Given the description of an element on the screen output the (x, y) to click on. 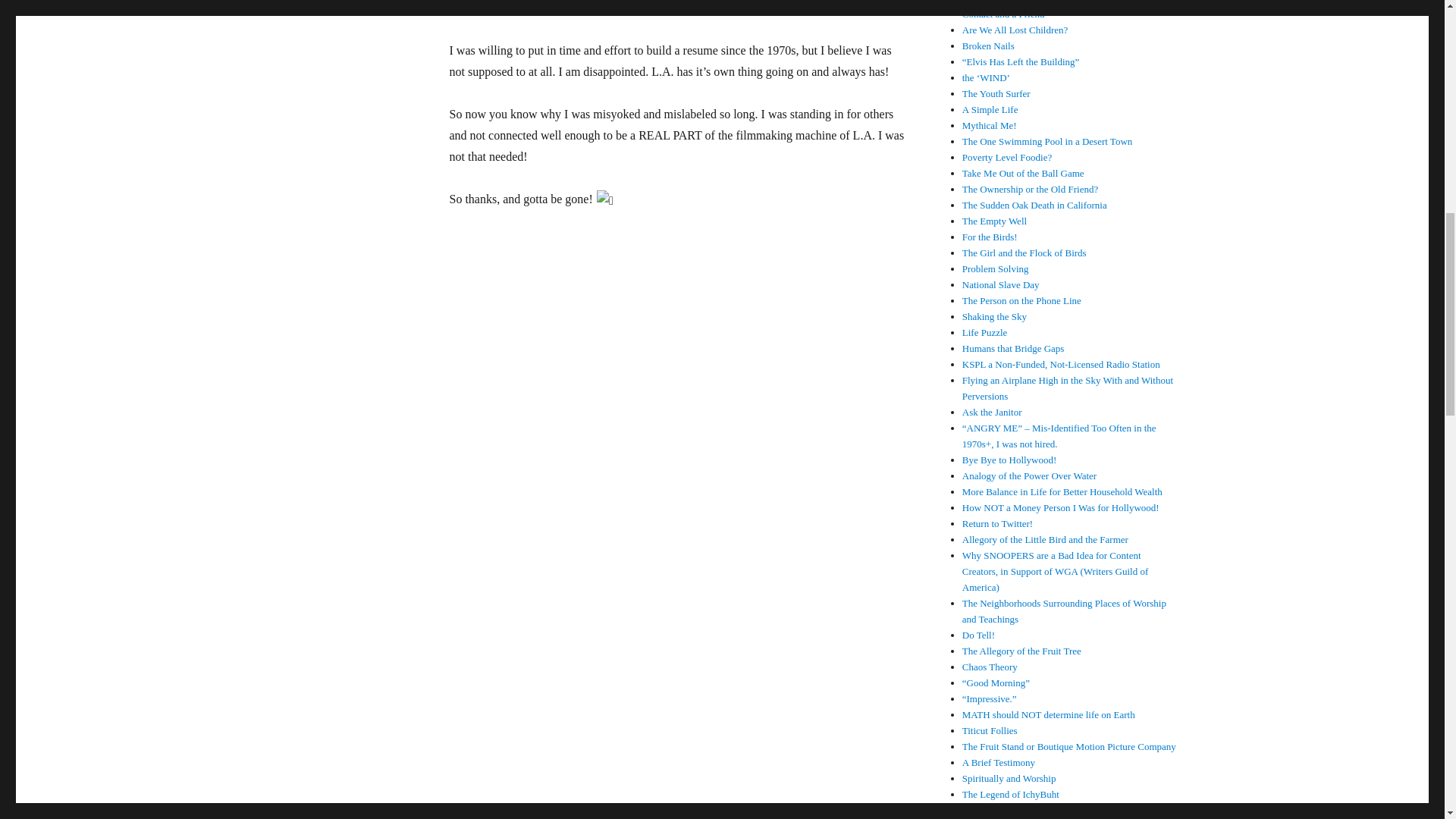
Contact and a Friend (1003, 13)
On Boat, Should I Swim Instead? (1028, 2)
